Given the description of an element on the screen output the (x, y) to click on. 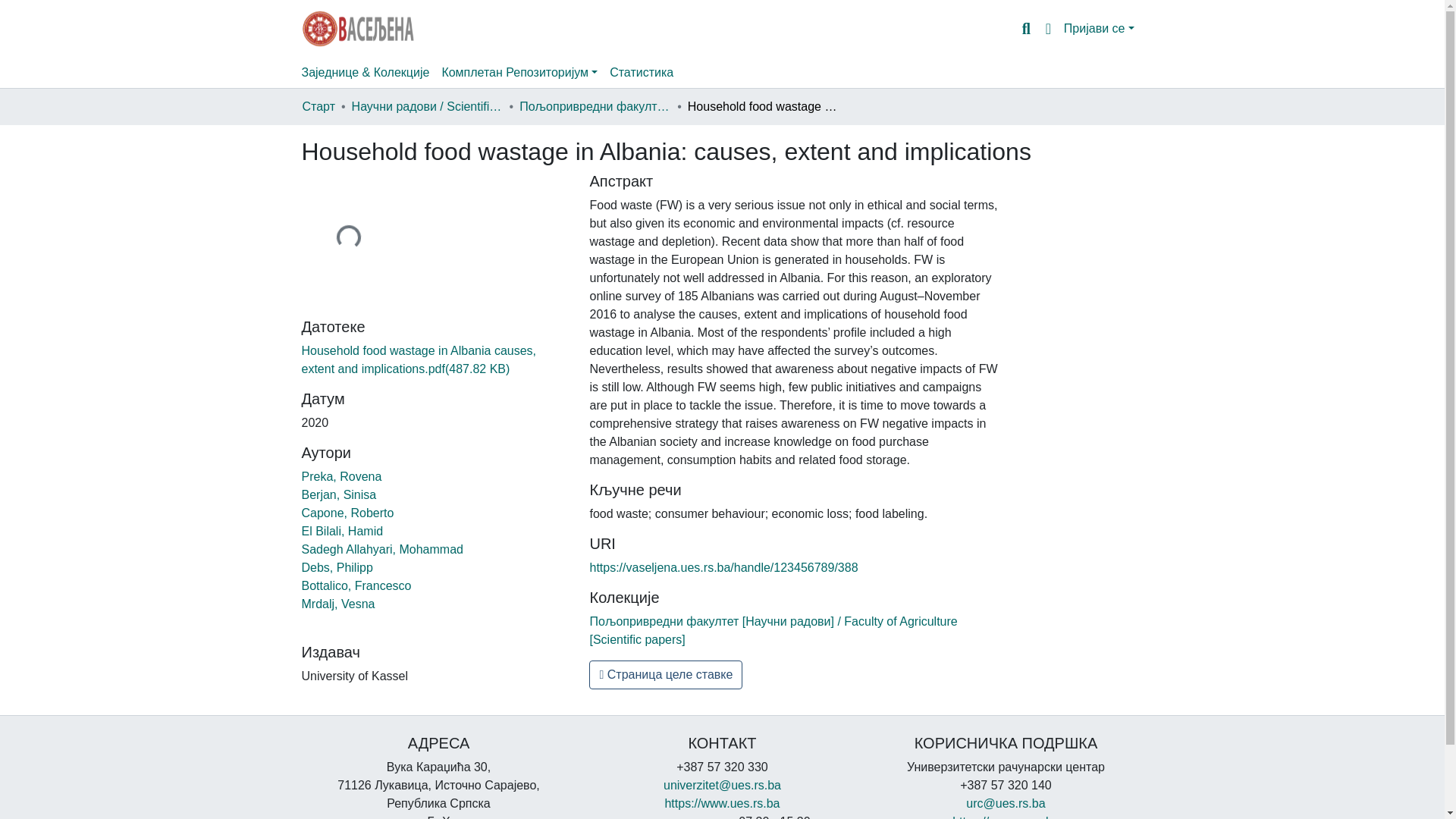
Mrdalj, Vesna (338, 603)
Debs, Philipp (336, 567)
UIS (720, 802)
Bottalico, Francesco (356, 585)
El Bilali, Hamid (342, 530)
Capone, Roberto (347, 512)
Berjan, Sinisa (339, 494)
Preka, Rovena (341, 476)
UIS (1005, 816)
Sadegh Allahyari, Mohammad (382, 549)
